Given the description of an element on the screen output the (x, y) to click on. 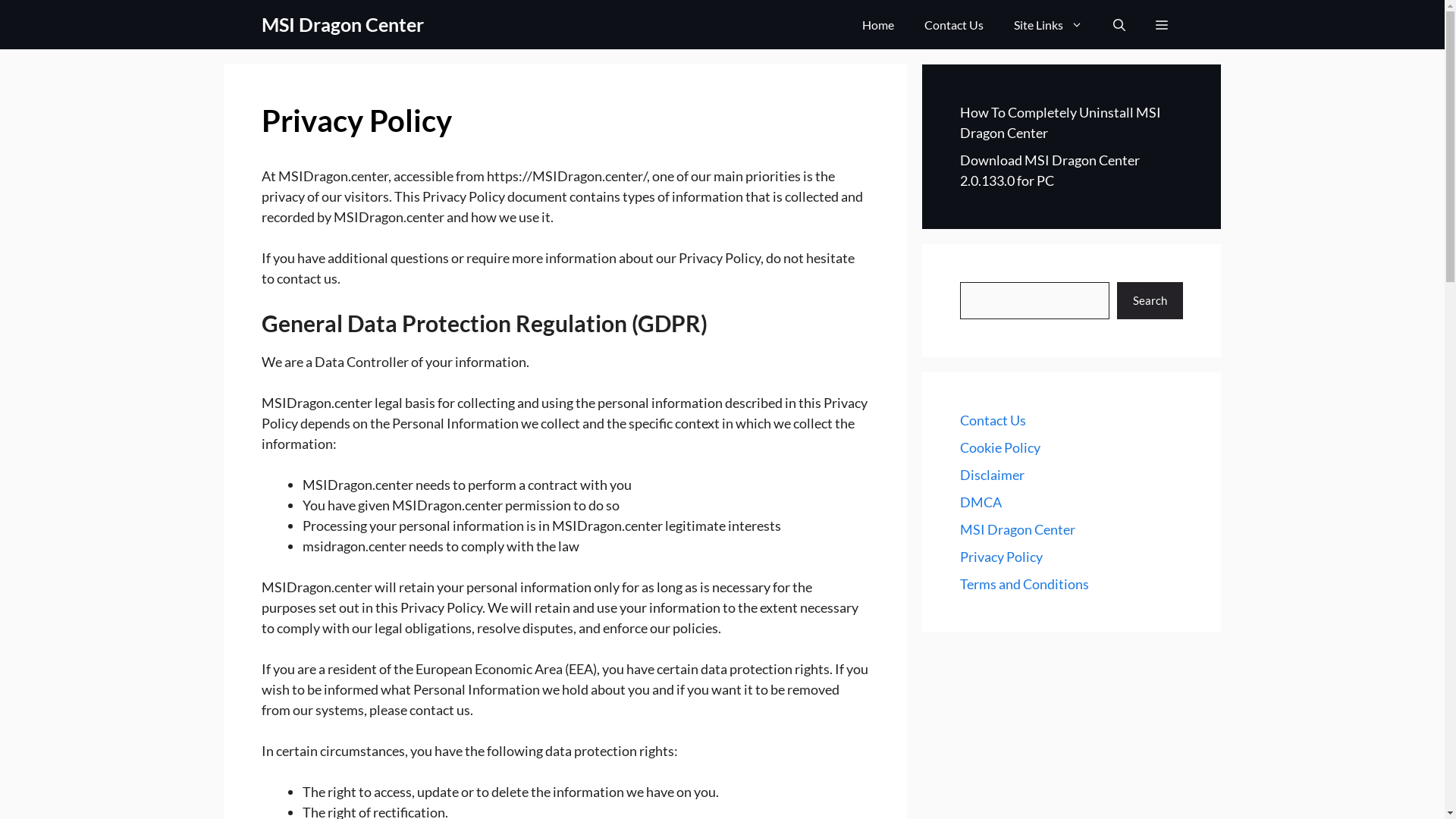
How To Completely Uninstall MSI Dragon Center Element type: text (1060, 122)
Contact Us Element type: text (953, 24)
Disclaimer Element type: text (992, 474)
MSI Dragon Center Element type: text (342, 24)
Terms and Conditions Element type: text (1024, 583)
Download MSI Dragon Center 2.0.133.0 for PC Element type: text (1049, 169)
Contact Us Element type: text (993, 419)
Site Links Element type: text (1048, 24)
Cookie Policy Element type: text (1000, 447)
Privacy Policy Element type: text (1001, 556)
Search Element type: text (1150, 300)
MSI Dragon Center Element type: text (1017, 528)
Home Element type: text (878, 24)
DMCA Element type: text (980, 501)
